Given the description of an element on the screen output the (x, y) to click on. 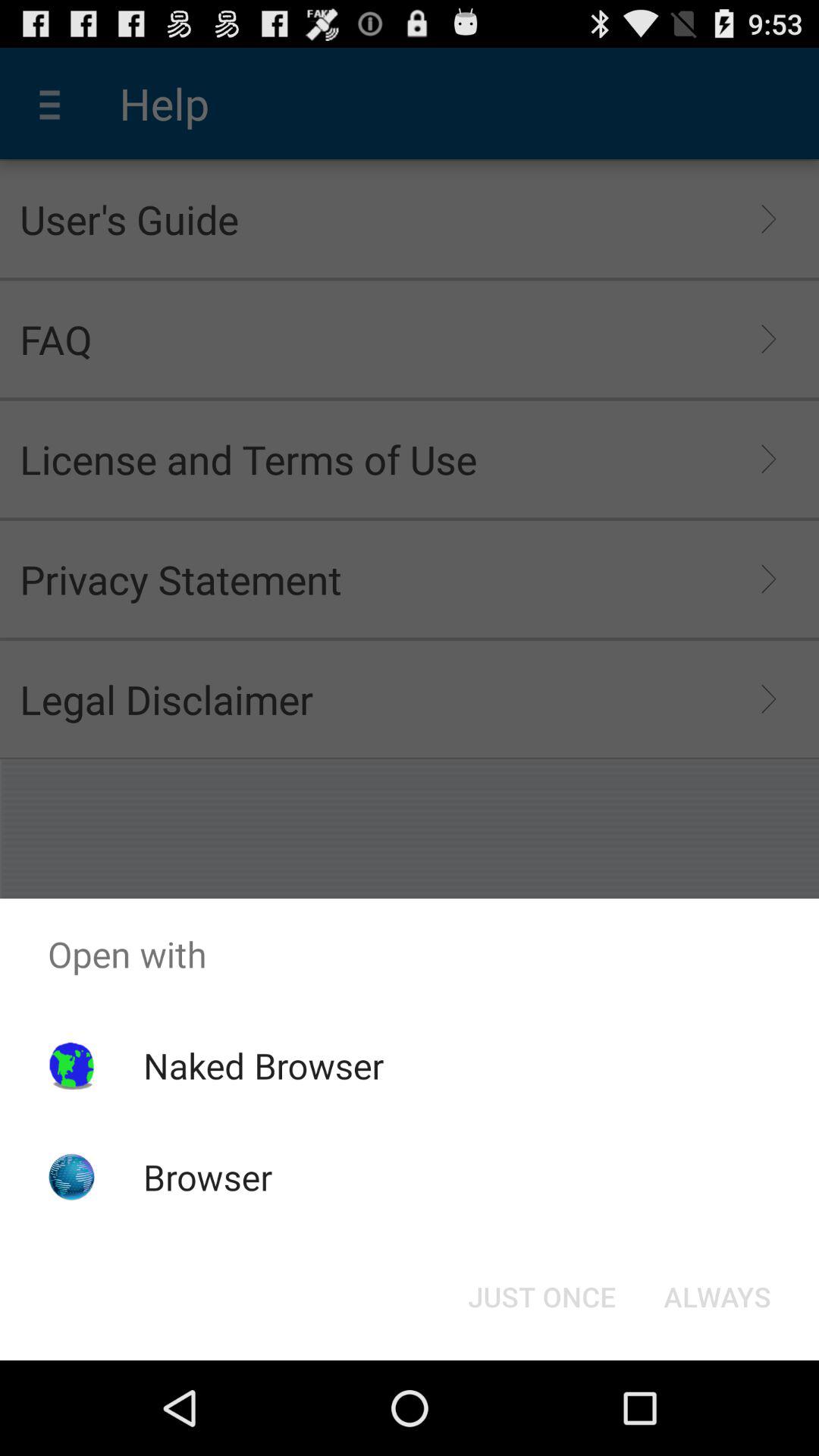
select the icon above browser app (263, 1065)
